Given the description of an element on the screen output the (x, y) to click on. 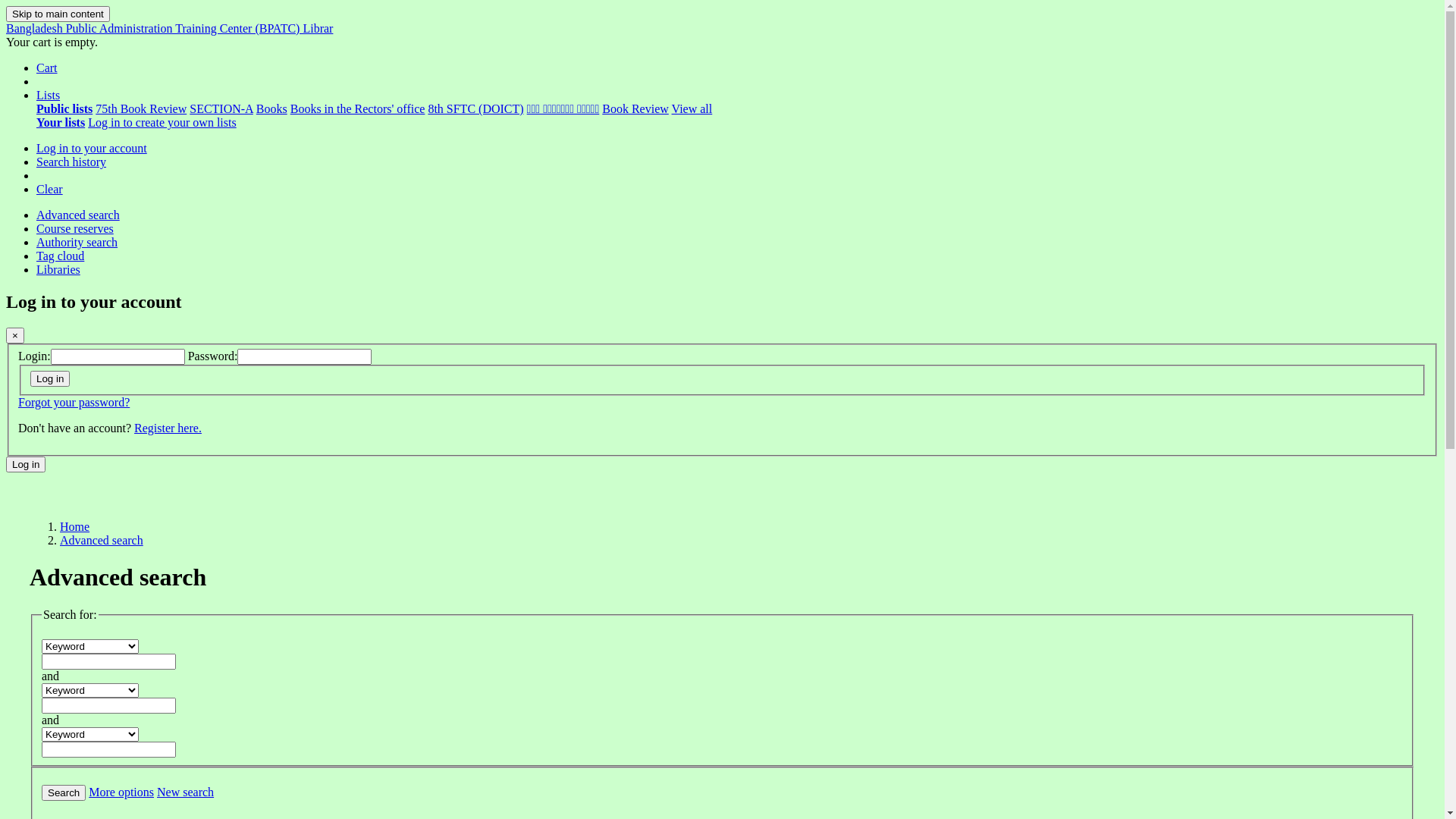
Advanced search Element type: text (101, 539)
Books in the Rectors' office Element type: text (357, 108)
New search Element type: text (184, 791)
SECTION-A Element type: text (221, 108)
More options Element type: text (120, 791)
Log in Element type: text (49, 378)
Your lists Element type: text (60, 122)
Forgot your password? Element type: text (73, 401)
Home Element type: text (74, 526)
Cart Element type: text (46, 67)
Search Element type: hover (63, 792)
Log in to create your own lists Element type: text (161, 122)
8th SFTC (DOICT) Element type: text (475, 108)
Clear Element type: text (49, 188)
Log in Element type: text (25, 464)
Register here. Element type: text (167, 427)
Public lists Element type: text (64, 108)
Advanced search Element type: text (77, 214)
Enter search terms Element type: hover (108, 705)
Lists Element type: text (47, 94)
Course reserves Element type: text (74, 228)
Tag cloud Element type: text (60, 255)
Libraries Element type: text (58, 269)
Log in to your account Element type: text (91, 147)
Enter search terms Element type: hover (108, 661)
Enter search terms Element type: hover (108, 749)
Authority search Element type: text (76, 241)
Book Review Element type: text (635, 108)
75th Book Review Element type: text (140, 108)
Search Element type: text (63, 792)
Search history Element type: text (71, 161)
Skip to main content Element type: text (57, 13)
View all Element type: text (691, 108)
Books Element type: text (271, 108)
